Given the description of an element on the screen output the (x, y) to click on. 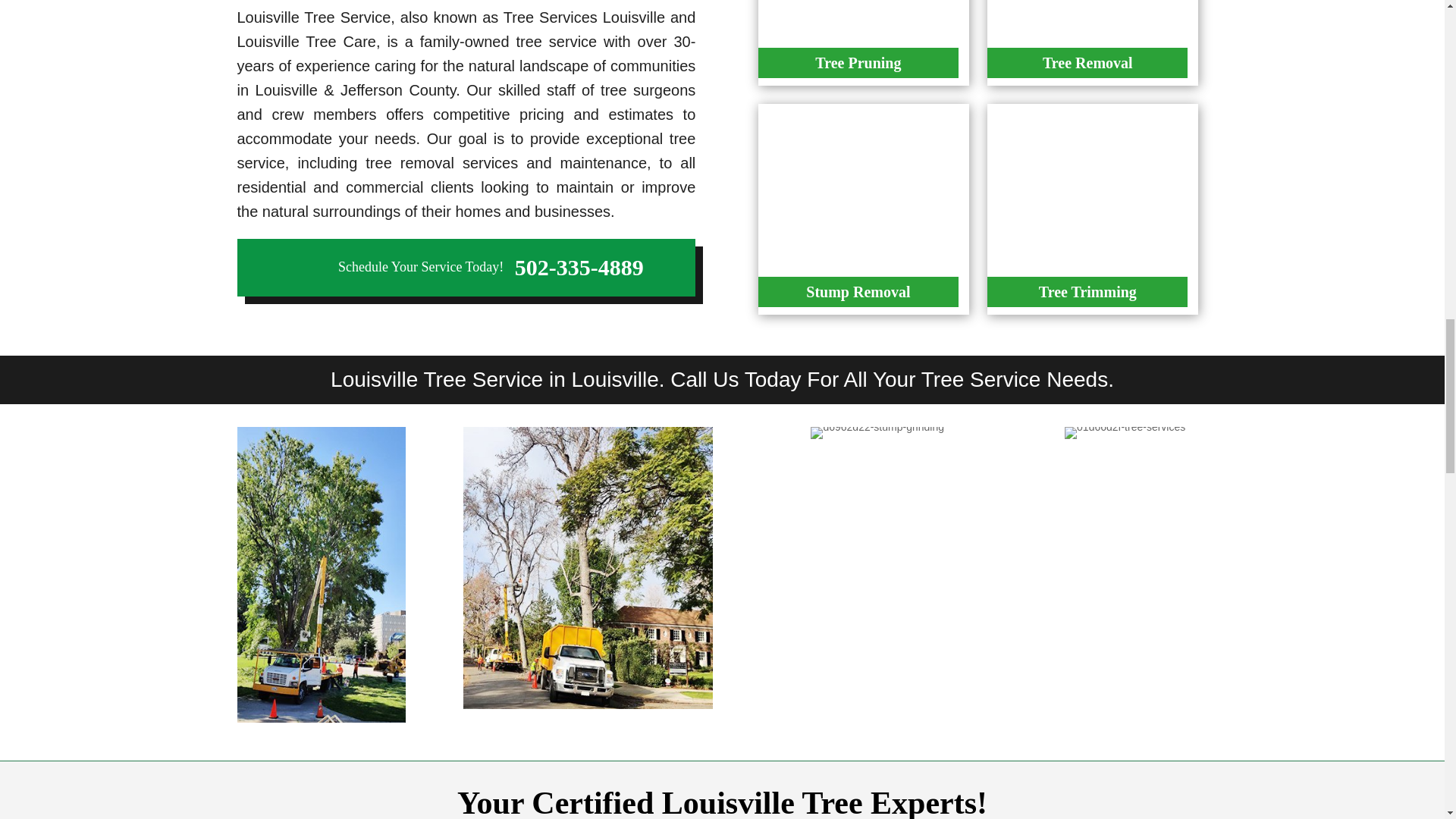
octree-related-1 (1124, 432)
502-335-4889 (579, 267)
d6962d22-stump-grinding (876, 432)
